Given the description of an element on the screen output the (x, y) to click on. 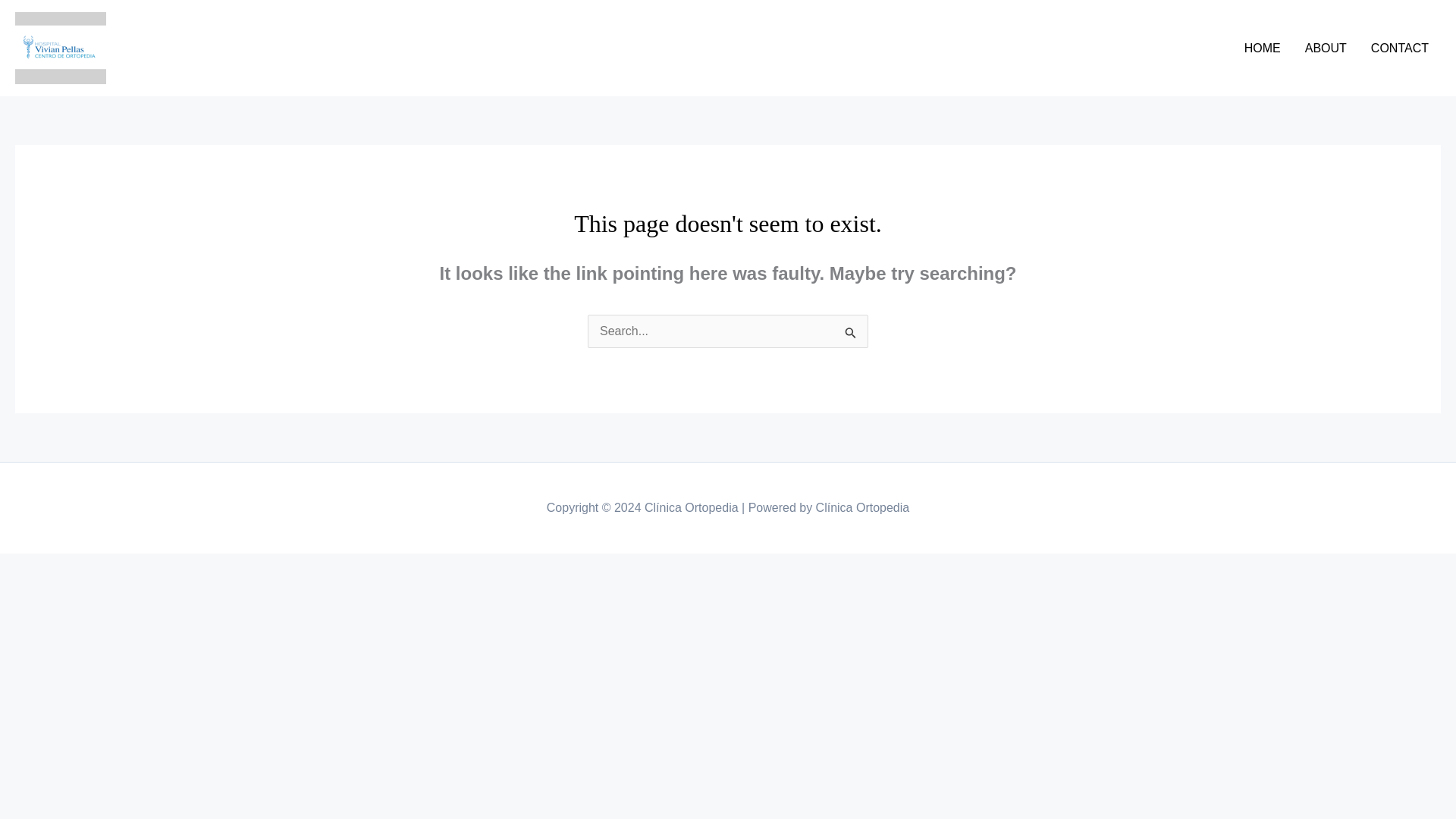
HOME (1261, 47)
ABOUT (1325, 47)
CONTACT (1399, 47)
